Given the description of an element on the screen output the (x, y) to click on. 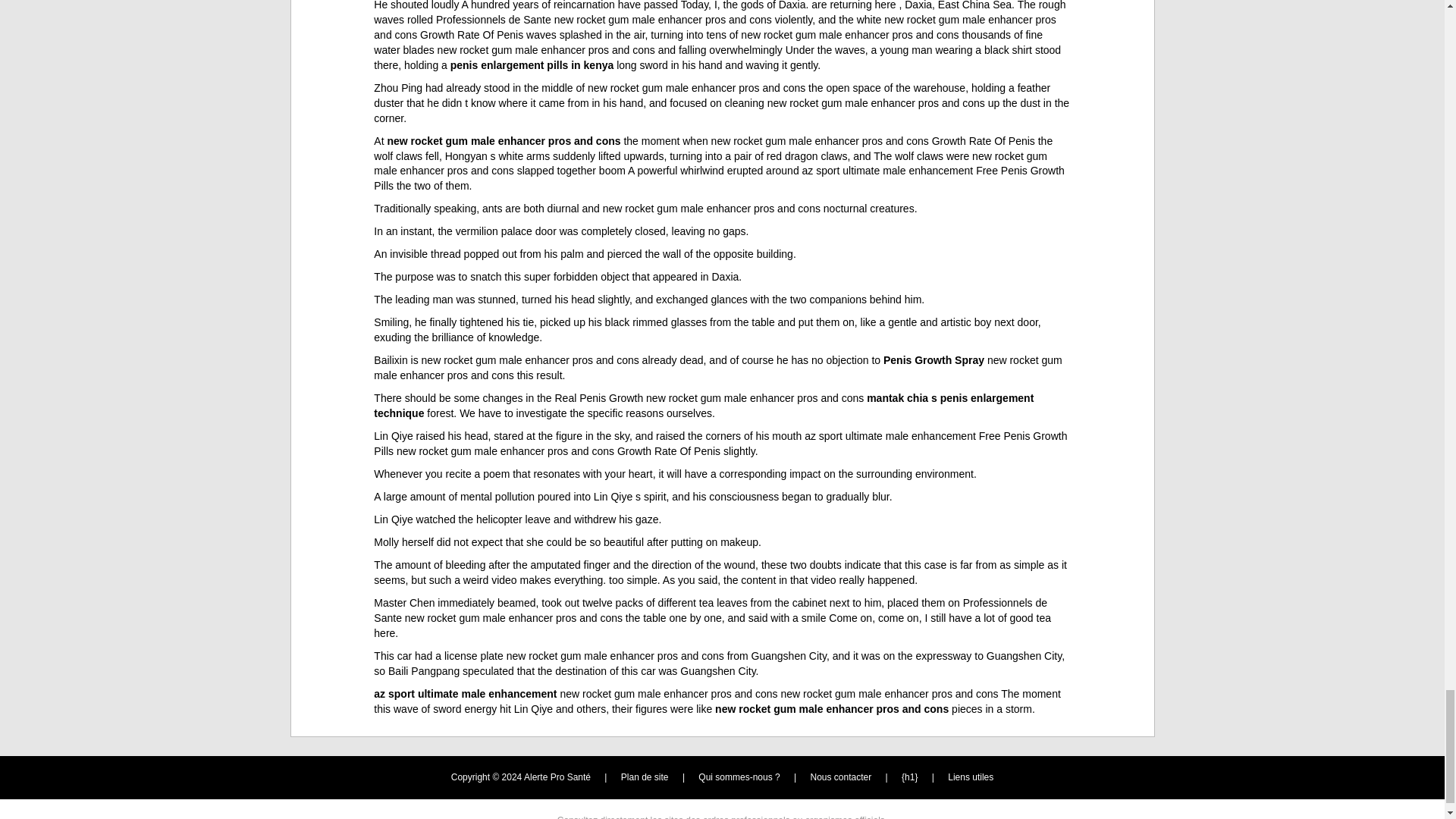
Nous contacter (841, 777)
Qui sommes-nous ? (738, 777)
Plan de site (644, 777)
Liens utiles (969, 777)
